Given the description of an element on the screen output the (x, y) to click on. 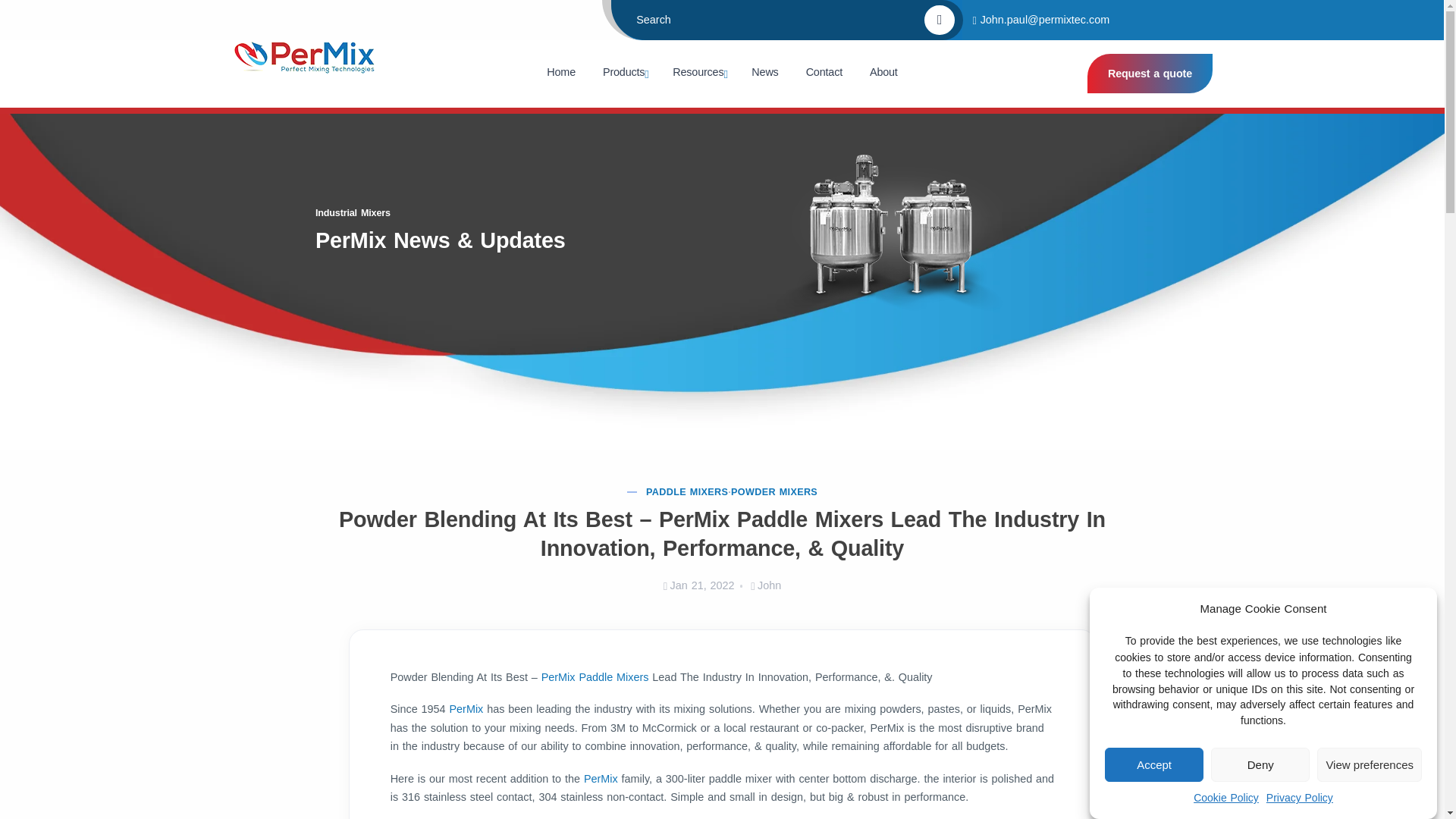
PerMix Paddle Mixer (595, 676)
